Given the description of an element on the screen output the (x, y) to click on. 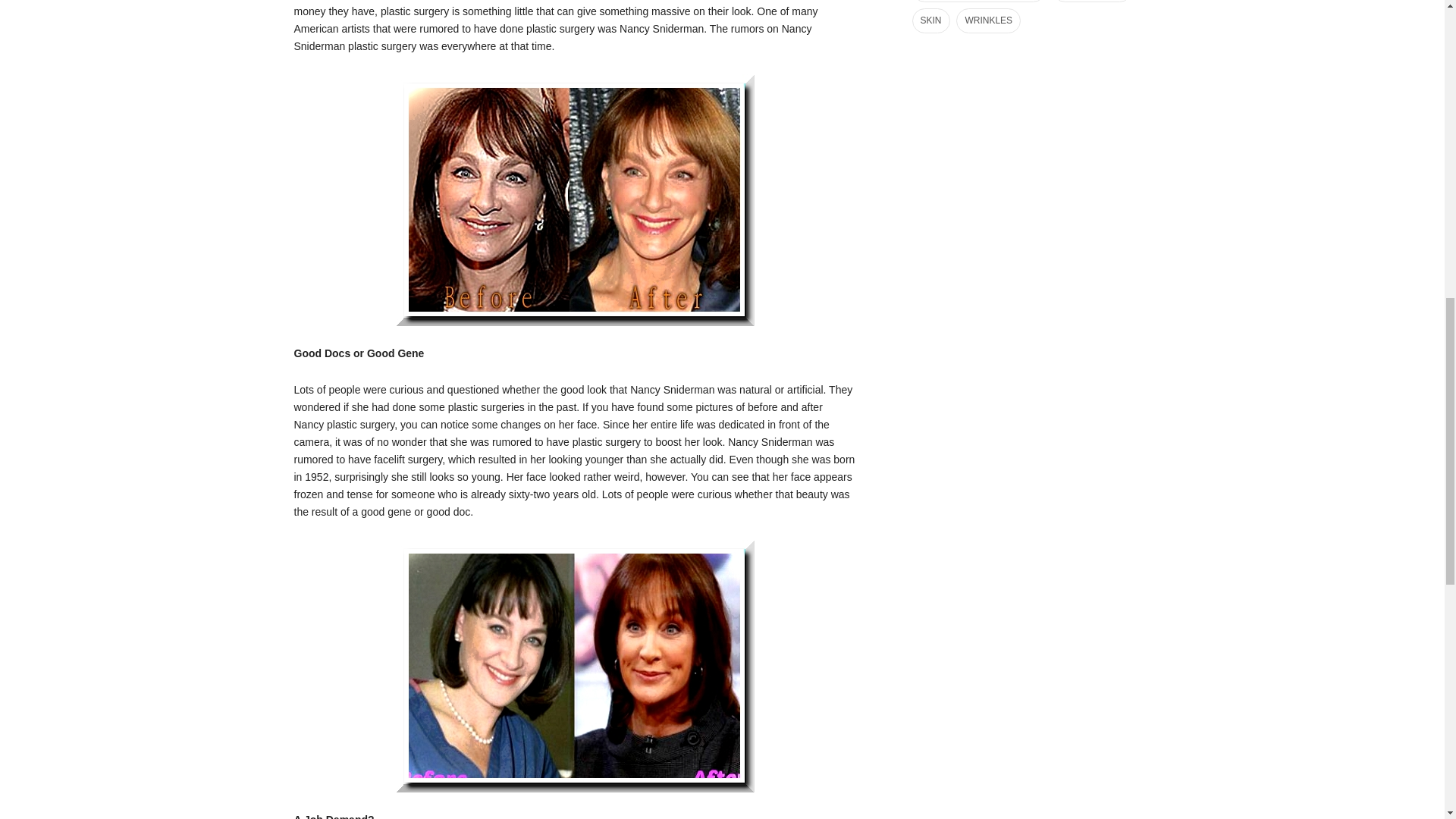
RACHAEL RAY (1092, 1)
WRINKLES (988, 20)
SKIN (930, 20)
QUEEN NOOR OF JORDAN (978, 1)
